Given the description of an element on the screen output the (x, y) to click on. 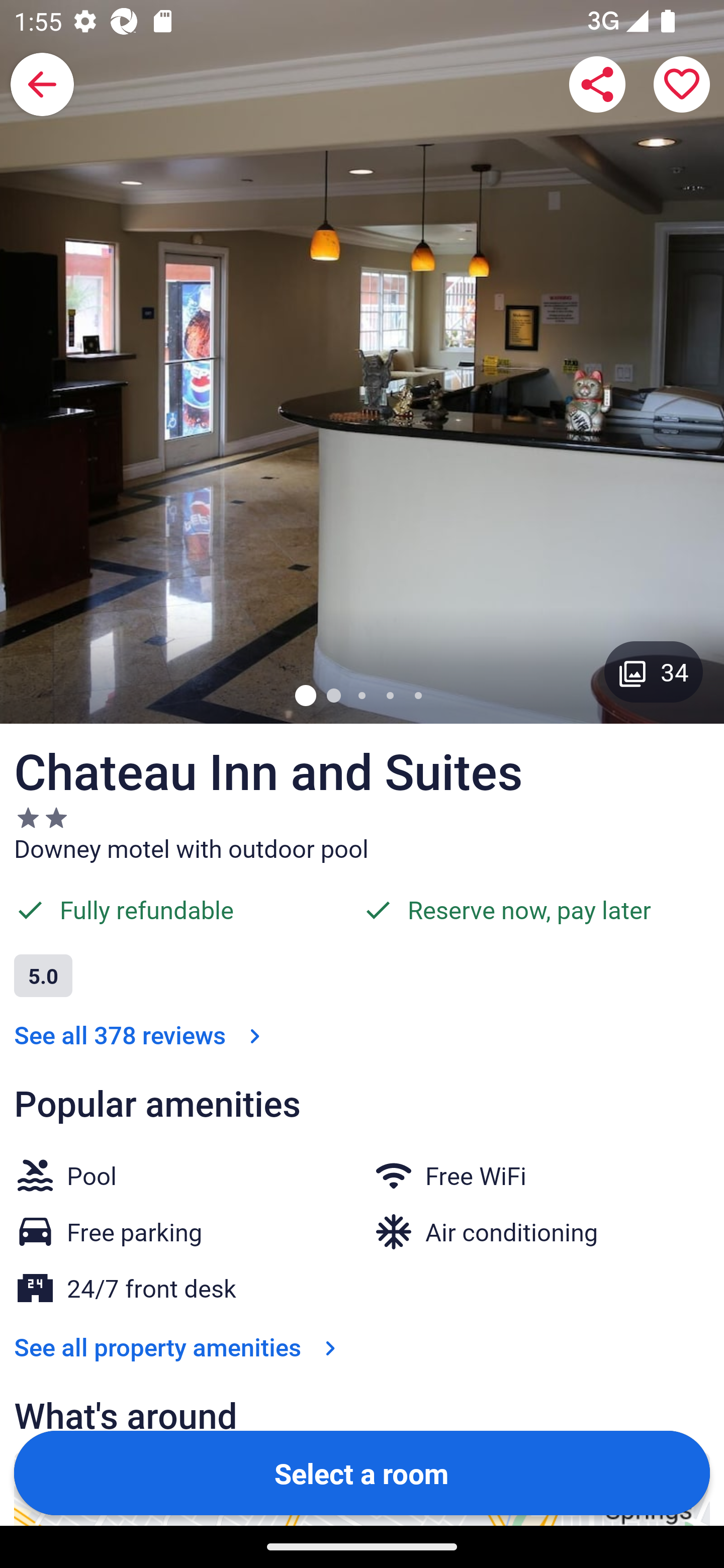
Back (42, 84)
Save property to a trip (681, 84)
Share Chateau Inn and Suites (597, 84)
Gallery button with 34 images (653, 671)
See all 378 reviews See all 378 reviews Link (140, 1034)
See all property amenities (178, 1346)
Select a room Button Select a room (361, 1472)
